Given the description of an element on the screen output the (x, y) to click on. 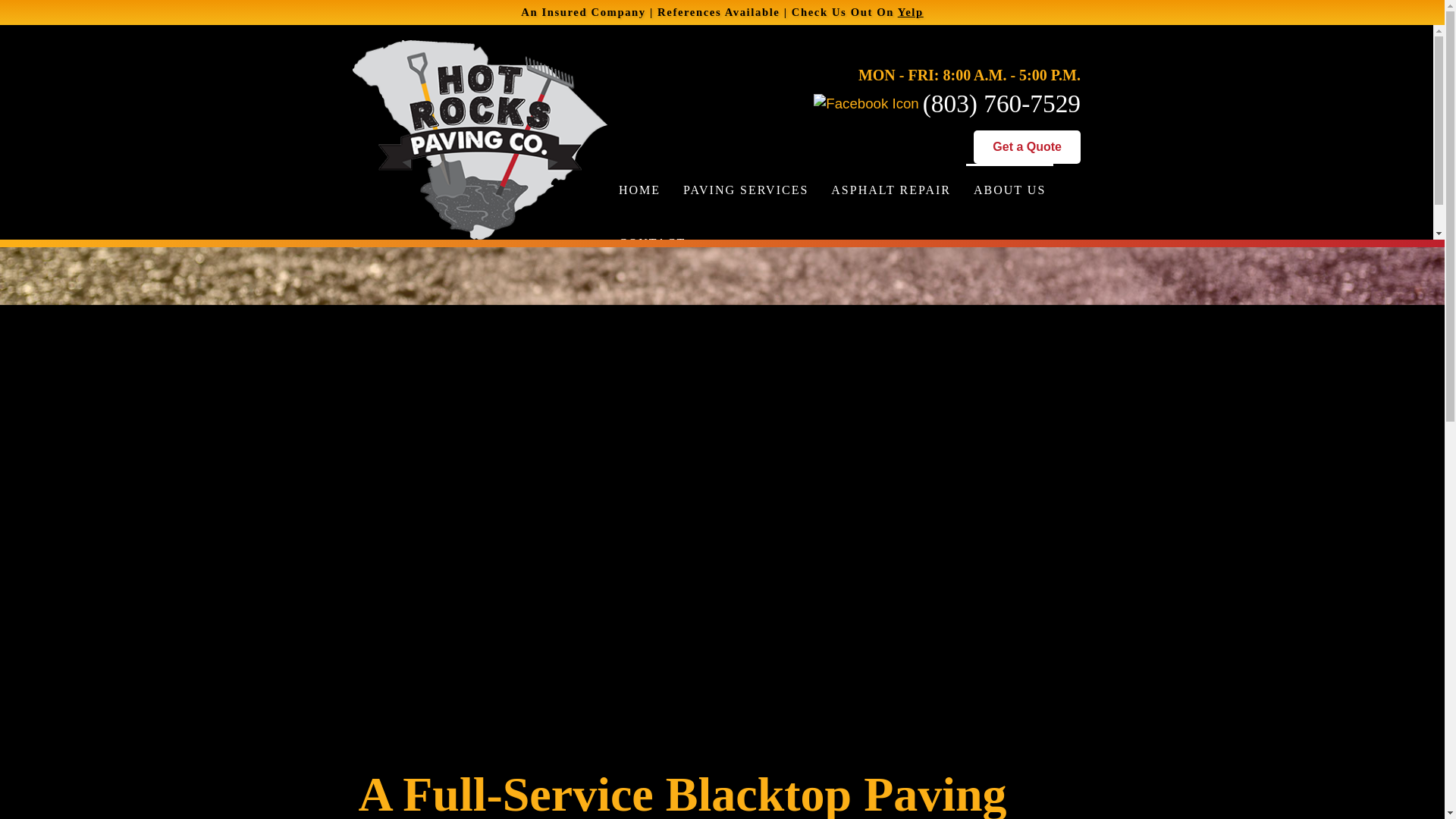
PAVING SERVICES (745, 190)
Yelp (910, 11)
Get a Quote (1027, 146)
Hot Rocks Paving Co. (479, 139)
HOME (639, 190)
CONTACT (652, 243)
Facebook Icon (867, 103)
ABOUT US (1009, 190)
ASPHALT REPAIR (891, 190)
